Given the description of an element on the screen output the (x, y) to click on. 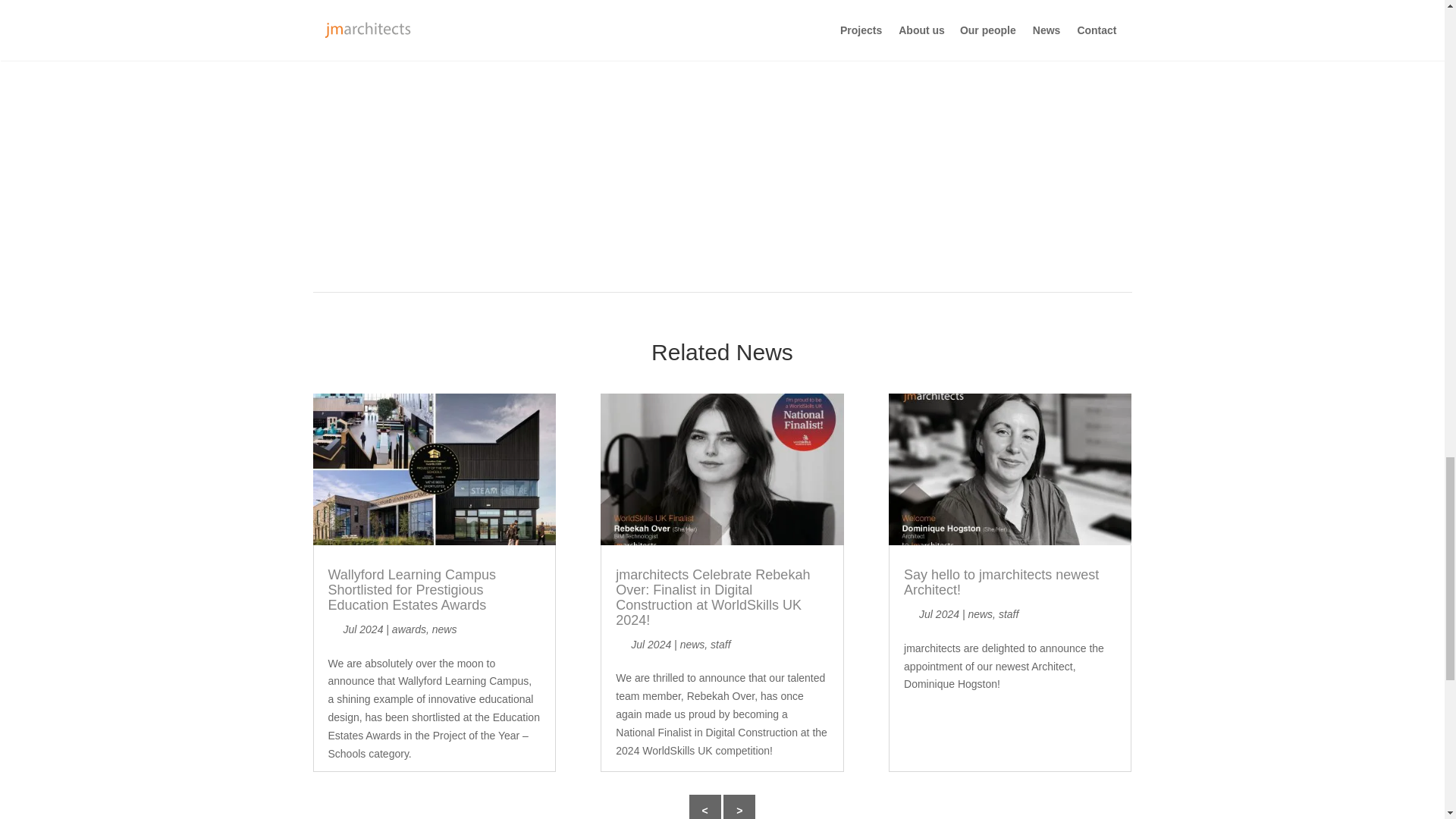
news (444, 629)
awards (408, 629)
